Given the description of an element on the screen output the (x, y) to click on. 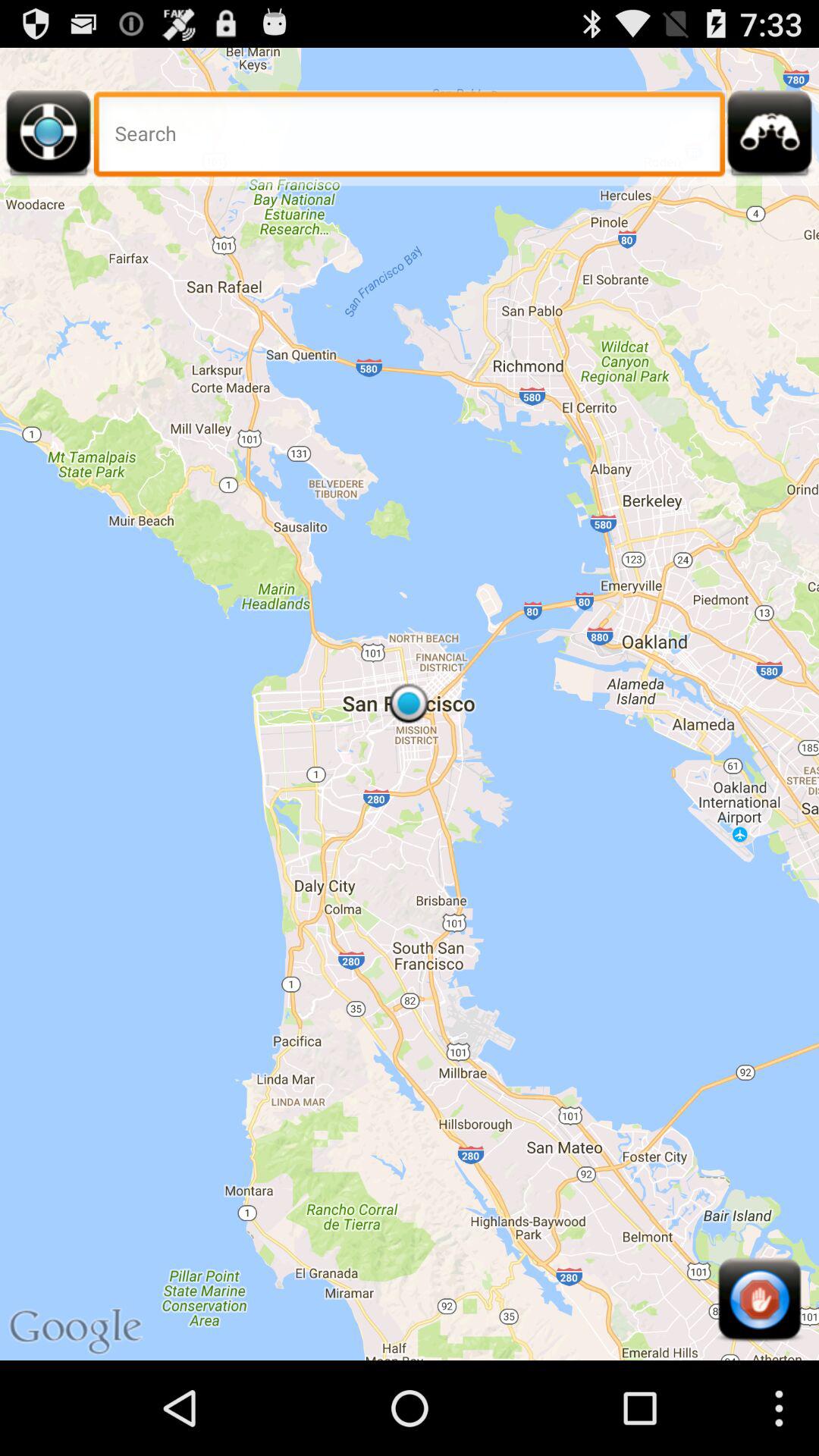
search in binocular option (770, 137)
